Given the description of an element on the screen output the (x, y) to click on. 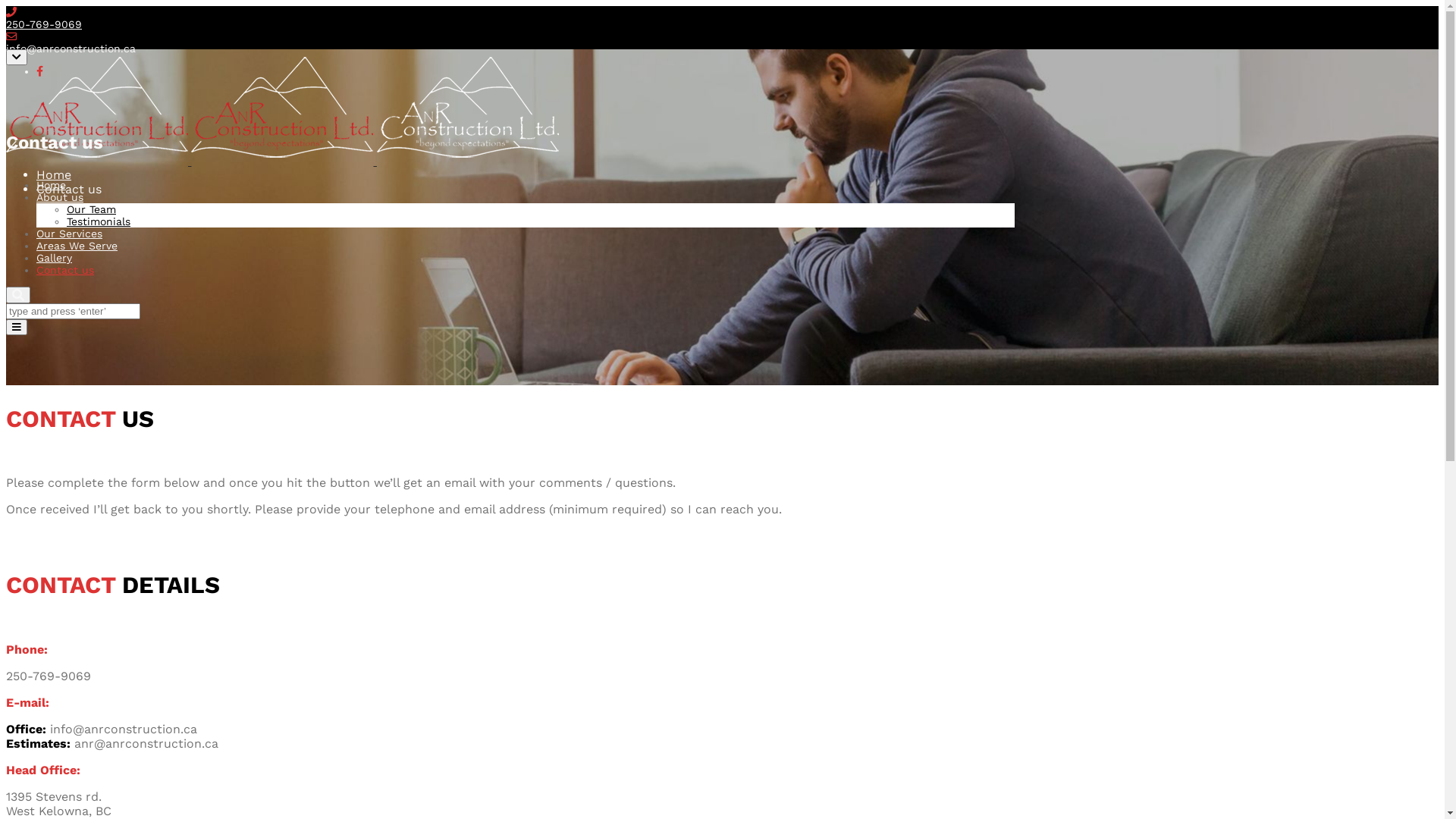
Gallery Element type: text (54, 257)
Testimonials Element type: text (98, 221)
Areas We Serve Element type: text (76, 245)
Contact us Element type: text (65, 269)
Close top bar Element type: text (16, 57)
Home Element type: text (53, 174)
250-769-9069 Element type: text (43, 24)
Search Element type: text (18, 294)
Our Services Element type: text (69, 233)
Our Team Element type: text (91, 209)
Toggle navigation Element type: text (16, 327)
About us Element type: text (59, 197)
Home Element type: text (50, 184)
